Given the description of an element on the screen output the (x, y) to click on. 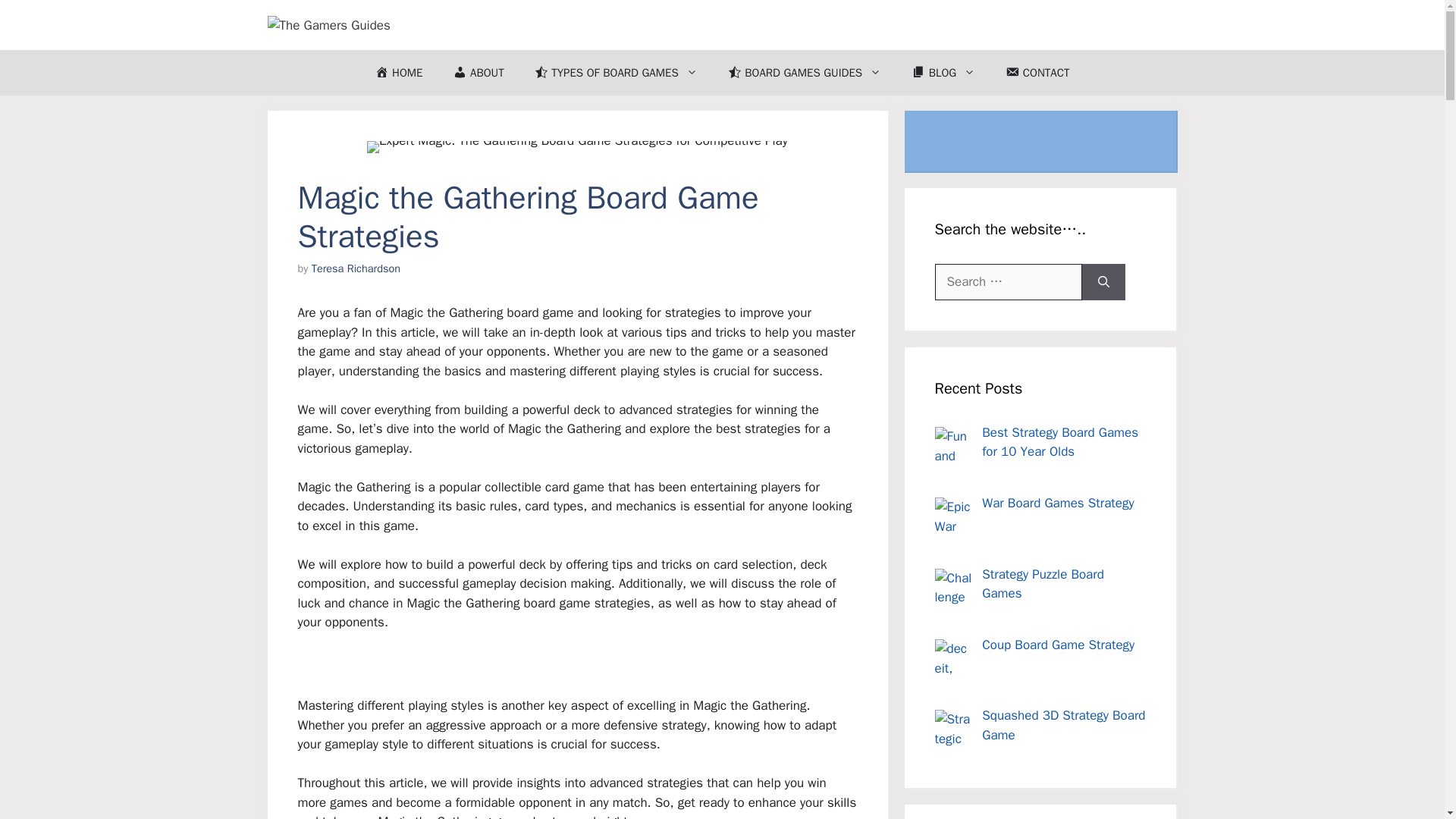
View all posts by Teresa Richardson (355, 268)
Magic the Gathering Board Game Strategies 1 (576, 146)
